Given the description of an element on the screen output the (x, y) to click on. 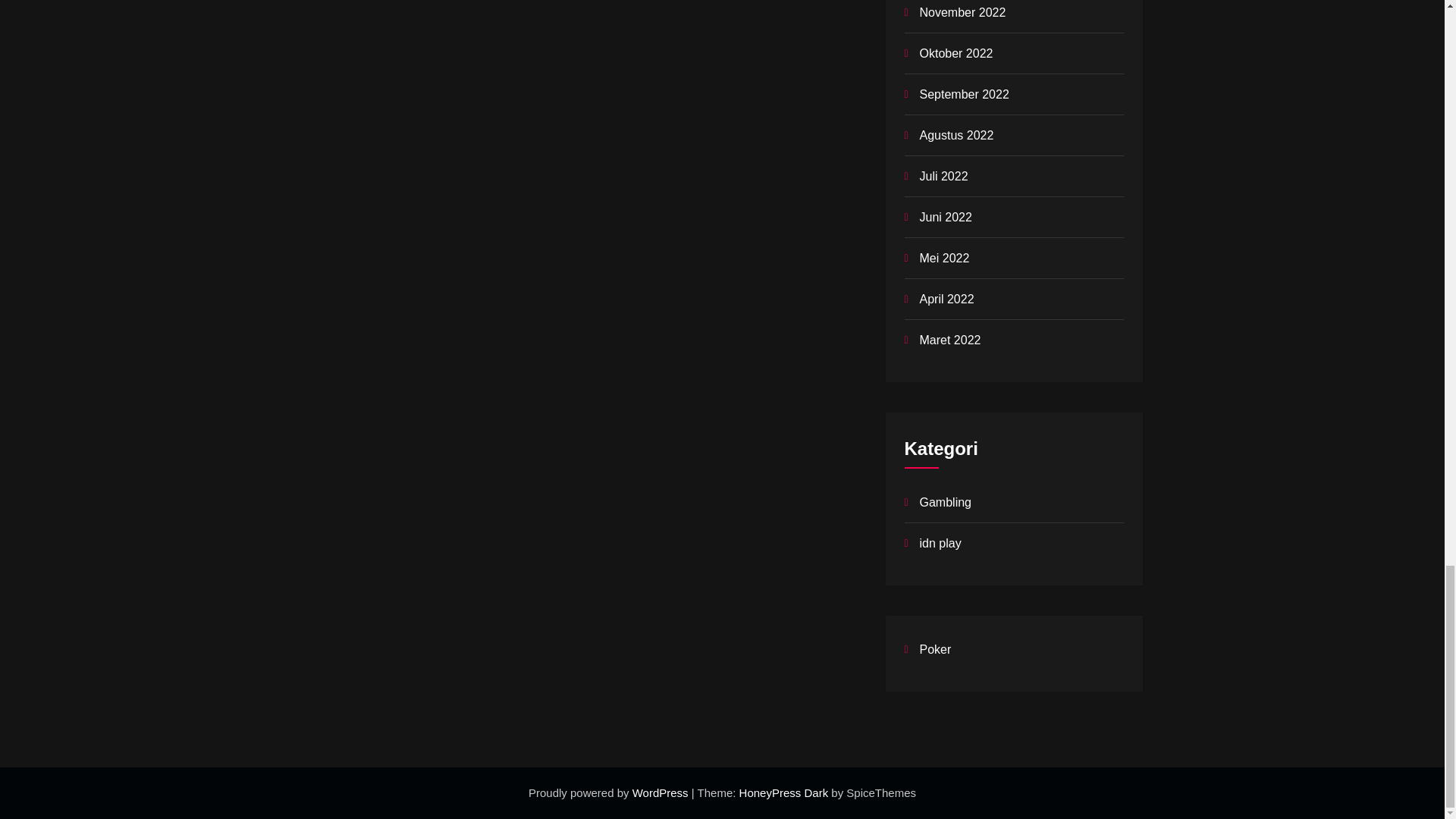
September 2022 (963, 93)
Oktober 2022 (955, 52)
November 2022 (962, 11)
